Given the description of an element on the screen output the (x, y) to click on. 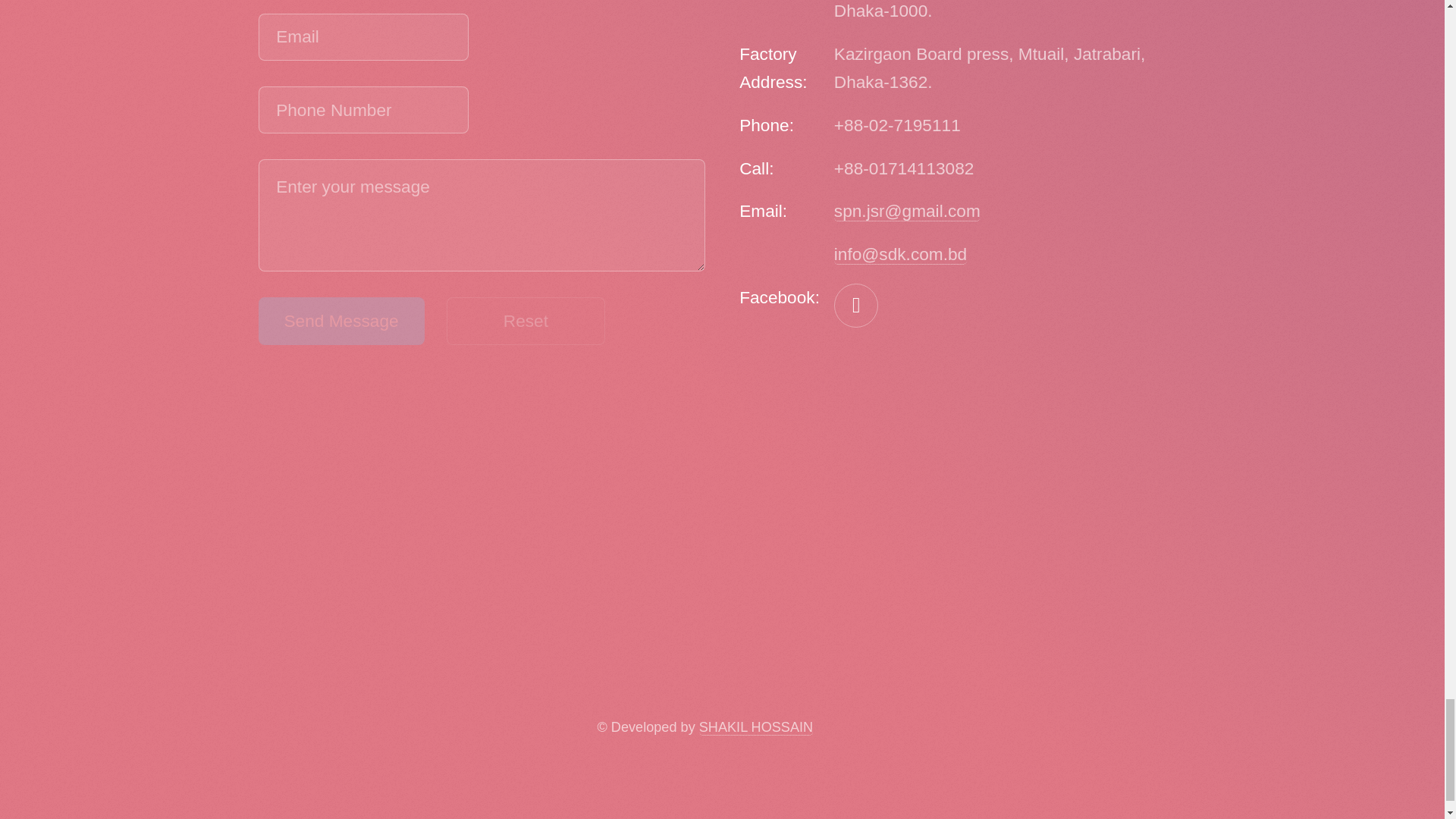
Send Message (340, 320)
Reset (525, 320)
SHAKIL HOSSAIN (755, 727)
Send Message (340, 320)
